Given the description of an element on the screen output the (x, y) to click on. 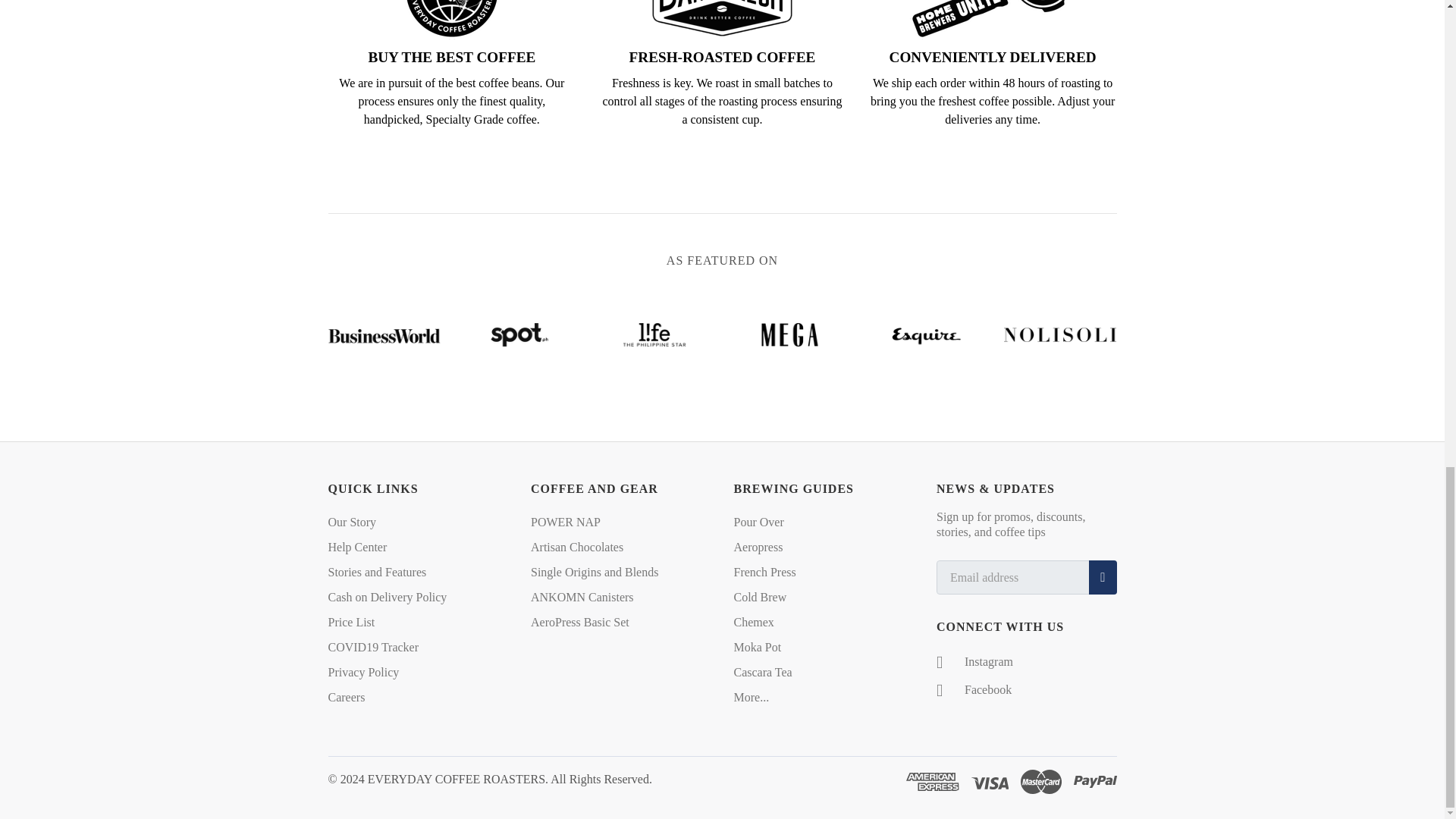
Single Origins and Blends (594, 572)
Artisan Chocolates (577, 547)
POWER NAP (565, 522)
Careers (346, 697)
ANKOMN Canisters (582, 597)
Stories and Features (376, 572)
Cash on Delivery Policy (386, 597)
Cash on Delivery Policy (386, 597)
About Everyday Coffee Roasters (351, 522)
FAQ (357, 547)
